Given the description of an element on the screen output the (x, y) to click on. 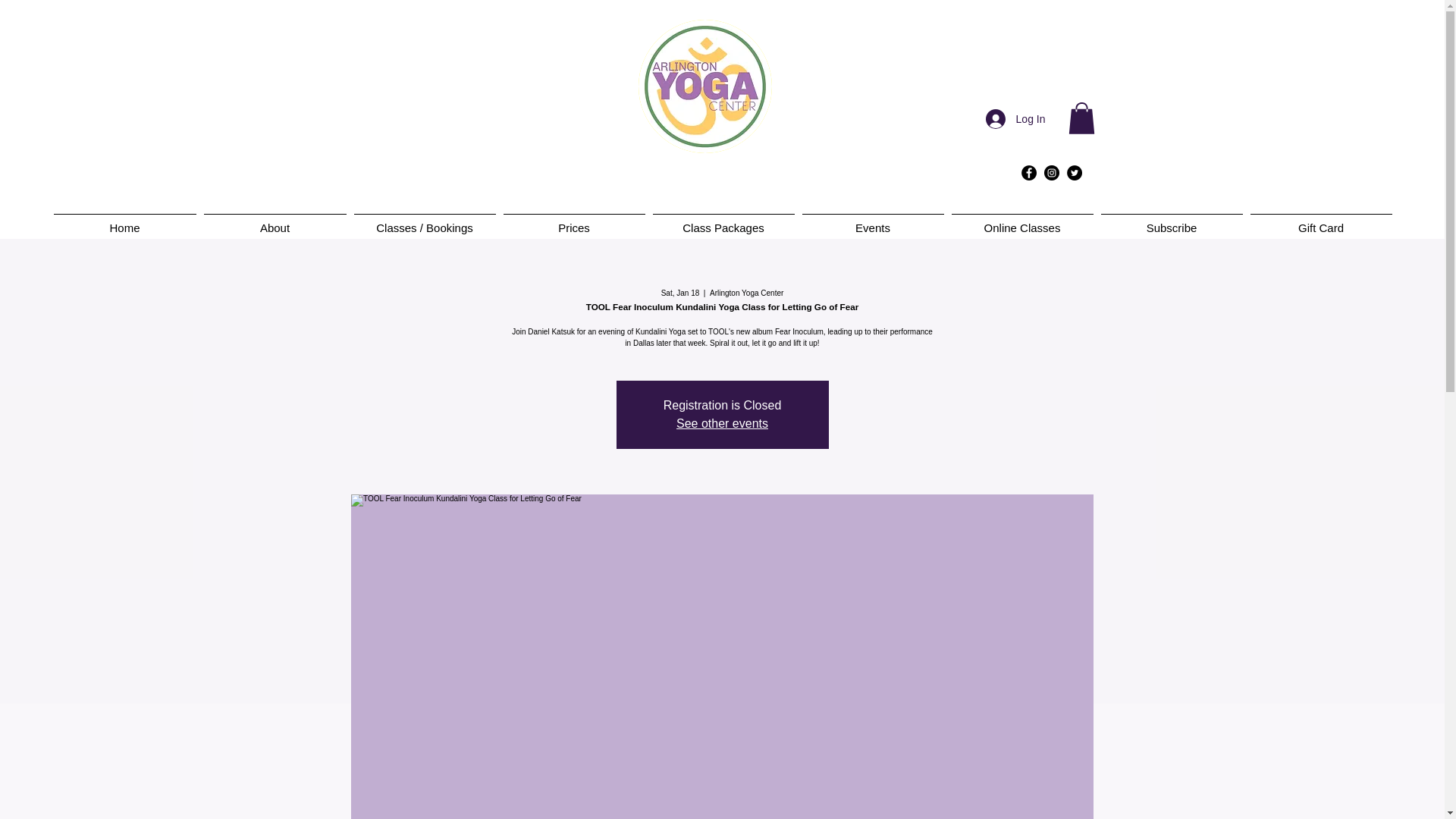
See other events (722, 422)
Gift Card (1321, 221)
Prices (573, 221)
Online Classes (1022, 221)
Home (124, 221)
Events (872, 221)
Class Packages (723, 221)
Subscribe (1171, 221)
Log In (1016, 118)
About (275, 221)
